Given the description of an element on the screen output the (x, y) to click on. 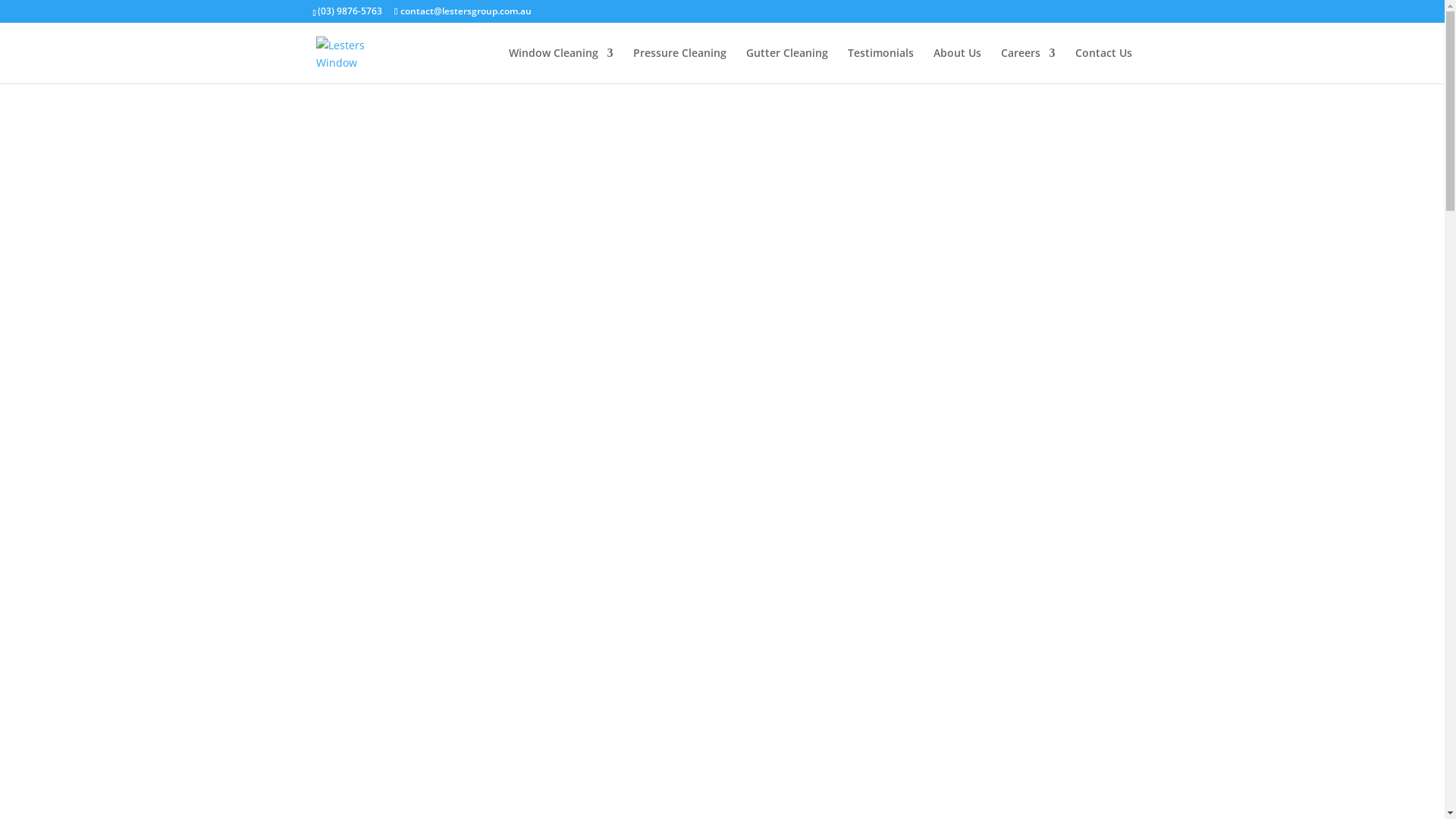
About Us Element type: text (956, 65)
Pressure Cleaning Element type: text (678, 65)
contact@lestersgroup.com.au Element type: text (462, 10)
Contact Us Element type: text (1103, 65)
Window Cleaning Element type: text (560, 65)
Careers Element type: text (1028, 65)
Testimonials Element type: text (880, 65)
Gutter Cleaning Element type: text (787, 65)
